Given the description of an element on the screen output the (x, y) to click on. 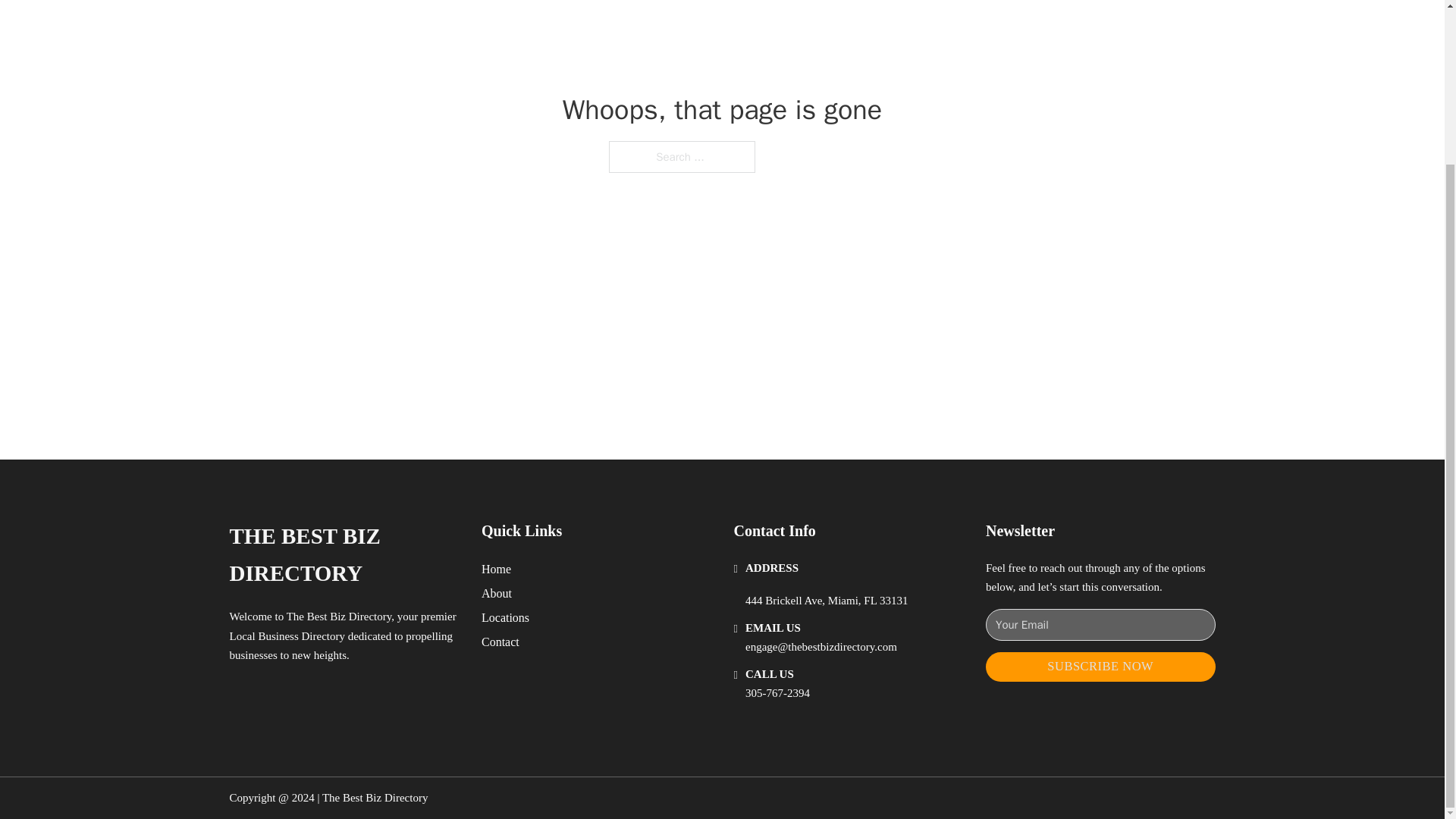
SUBSCRIBE NOW (1100, 666)
THE BEST BIZ DIRECTORY (343, 554)
Locations (505, 617)
Contact (500, 641)
About (496, 593)
305-767-2394 (777, 693)
Home (496, 568)
